Given the description of an element on the screen output the (x, y) to click on. 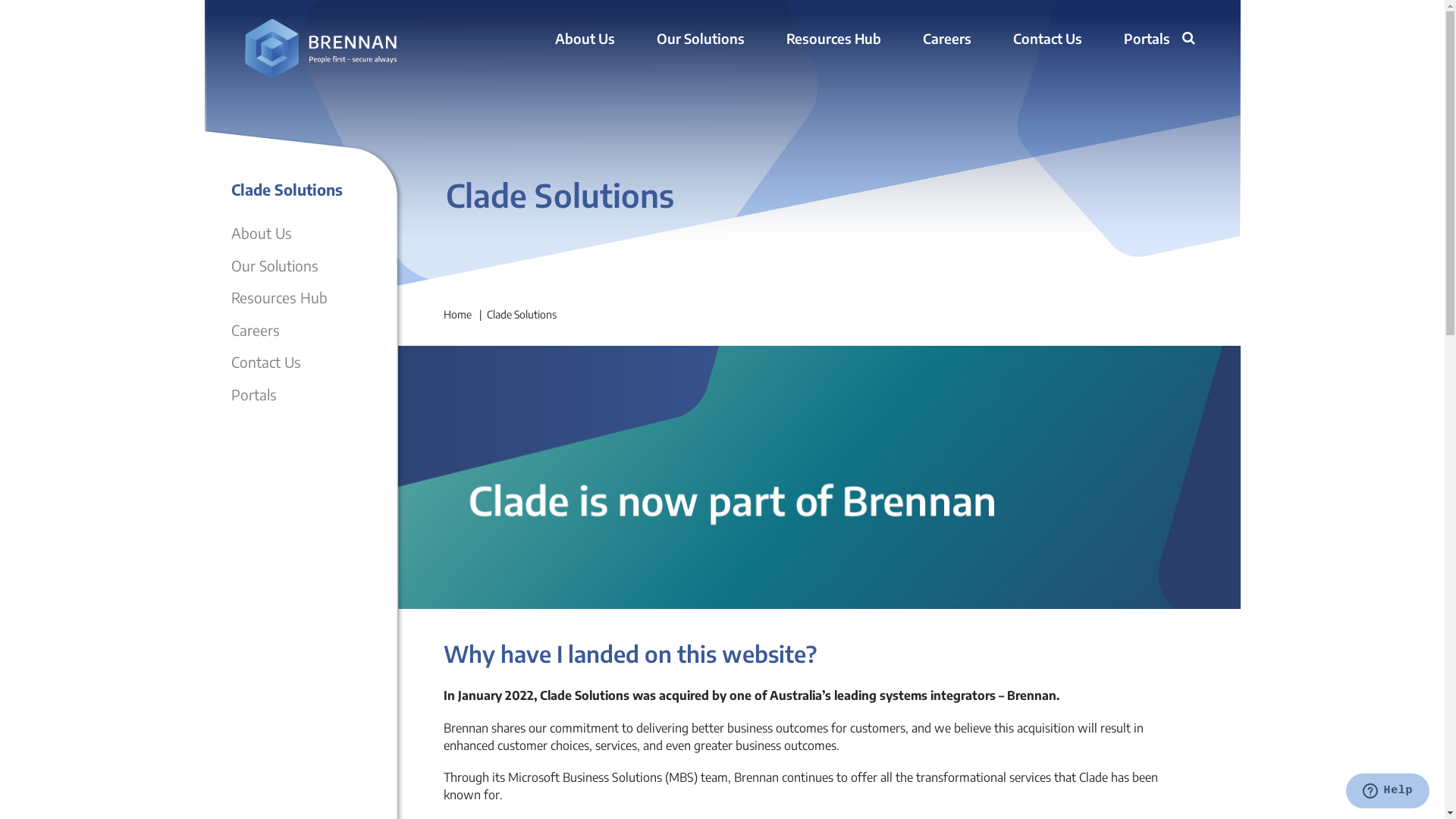
About Us Element type: text (585, 39)
Search Element type: text (1190, 40)
About Us Element type: text (260, 232)
Resources Hub Element type: text (278, 297)
Careers Element type: text (254, 329)
Portals Element type: text (253, 394)
Opens a widget where you can chat to one of our agents Element type: hover (1387, 792)
Careers Element type: text (946, 39)
Contact Us Element type: text (1047, 39)
Our Solutions Element type: text (700, 39)
Close Element type: text (1172, 59)
Portals Element type: text (1146, 39)
Contact Us Element type: text (265, 361)
Home Element type: text (456, 313)
Our Solutions Element type: text (273, 265)
Resources Hub Element type: text (832, 39)
